Given the description of an element on the screen output the (x, y) to click on. 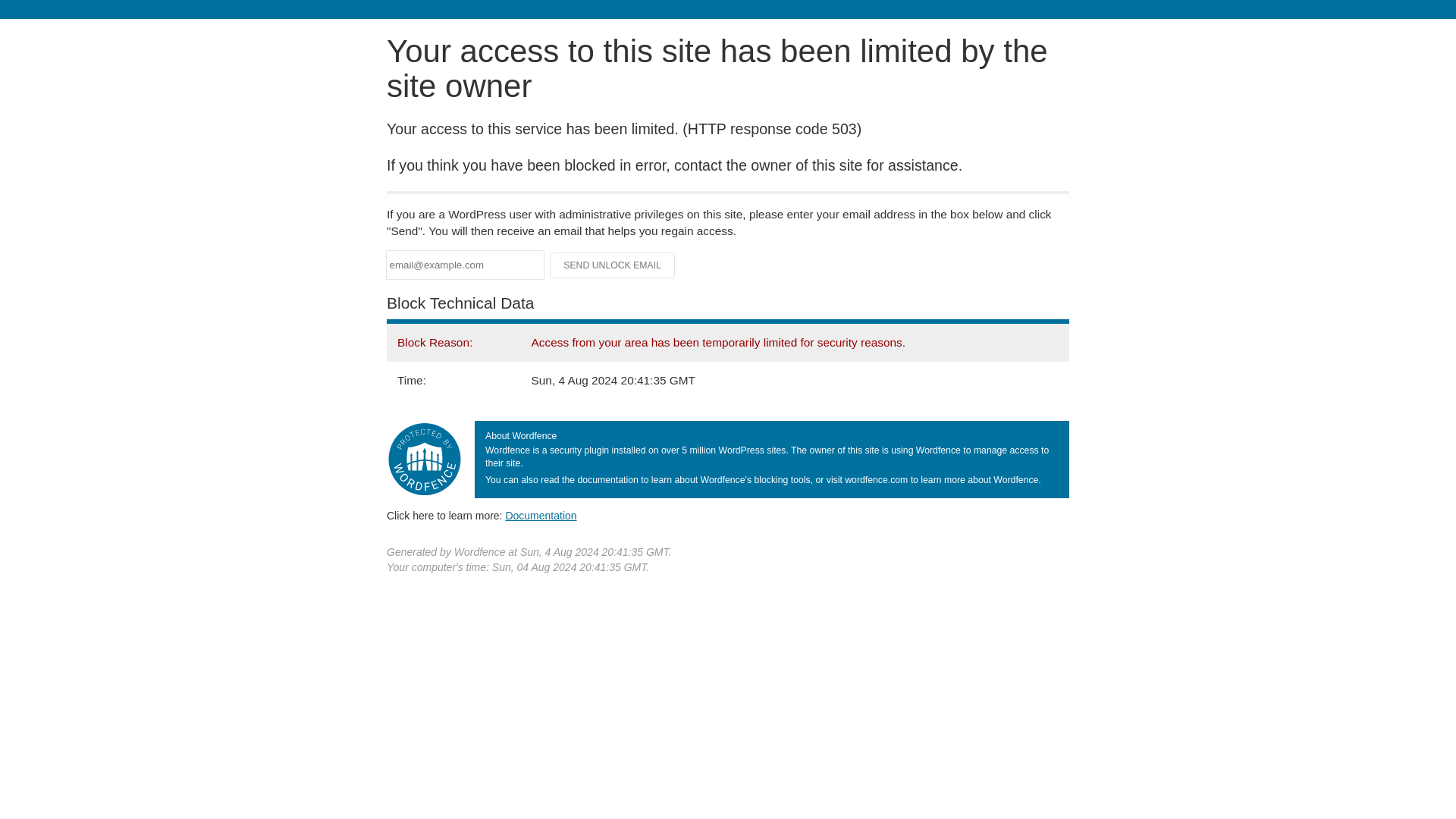
Send Unlock Email (612, 265)
Documentation (540, 515)
Send Unlock Email (612, 265)
